Given the description of an element on the screen output the (x, y) to click on. 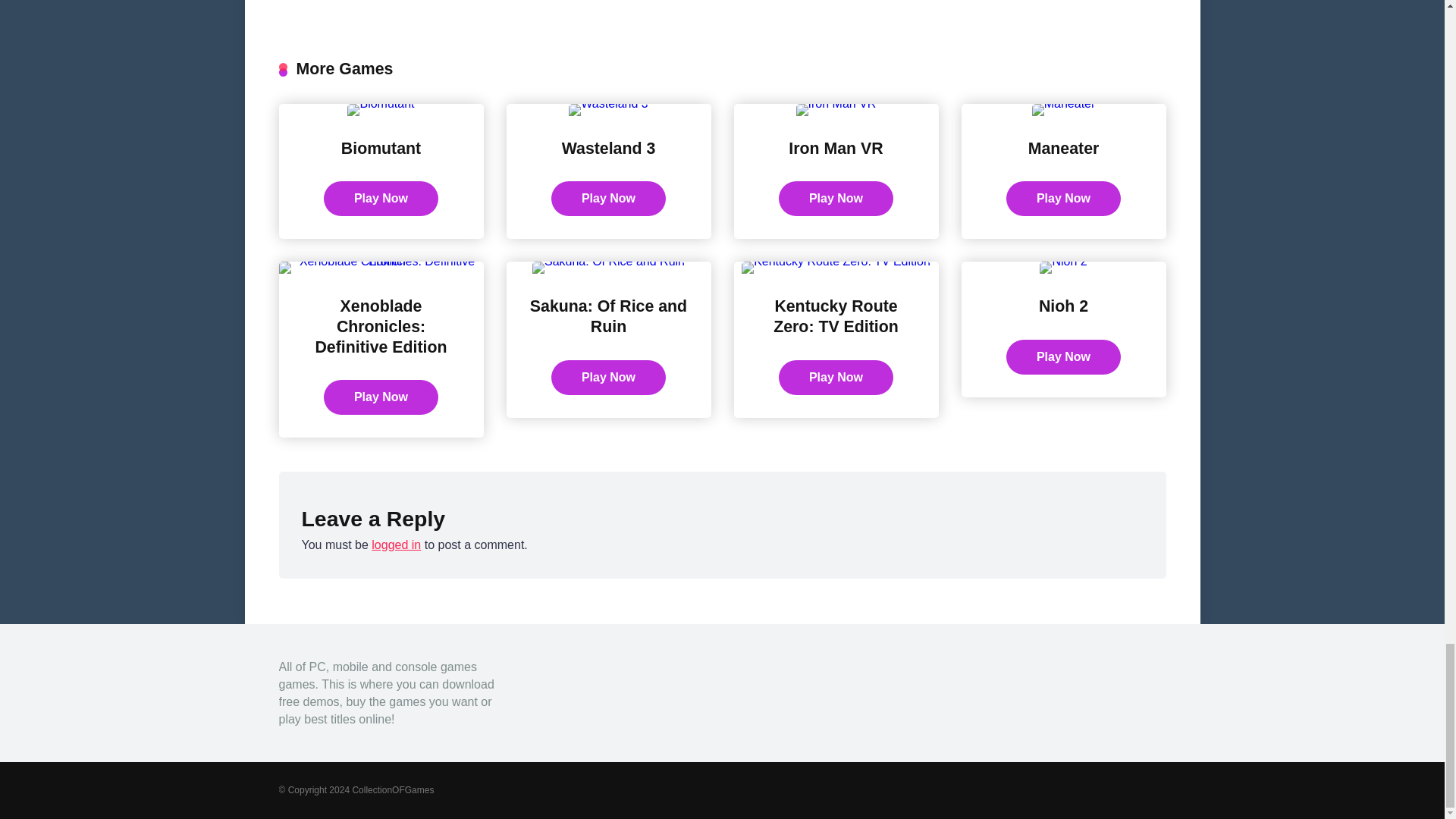
Iron Man VR (835, 148)
Play Now (835, 198)
Sakuna: Of Rice and Ruin (608, 316)
Biomutant (380, 148)
Play Now (608, 377)
Play Now (608, 198)
Play Now (380, 198)
Play Now (1063, 198)
Play Now (1063, 356)
Play Now (835, 377)
Nioh 2 (1063, 306)
logged in (395, 544)
Wasteland 3 (609, 148)
Xenoblade Chronicles: Definitive Edition (380, 326)
Play Now (380, 397)
